Given the description of an element on the screen output the (x, y) to click on. 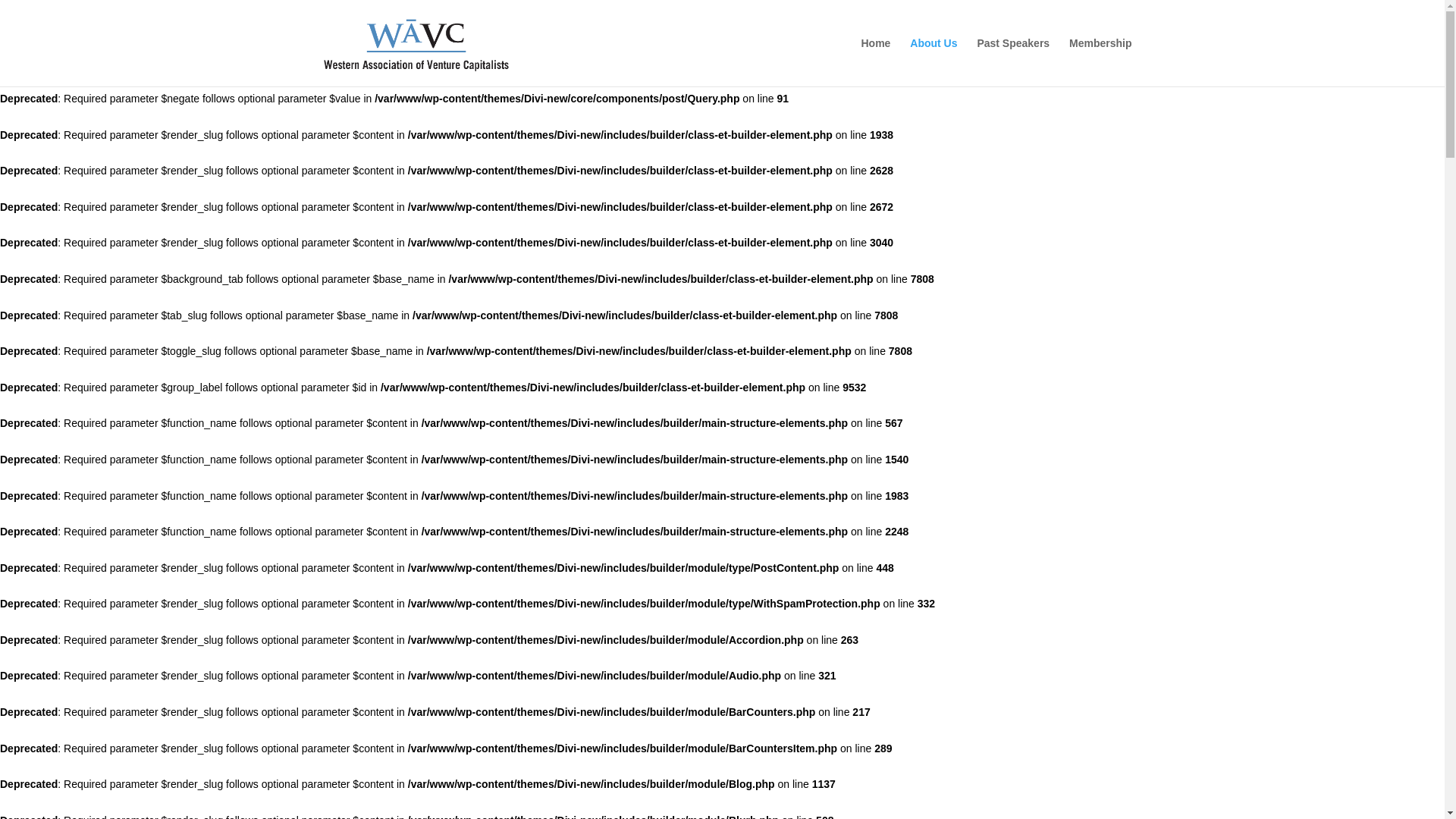
About Us (933, 61)
Membership (1099, 61)
Past Speakers (1012, 61)
